Given the description of an element on the screen output the (x, y) to click on. 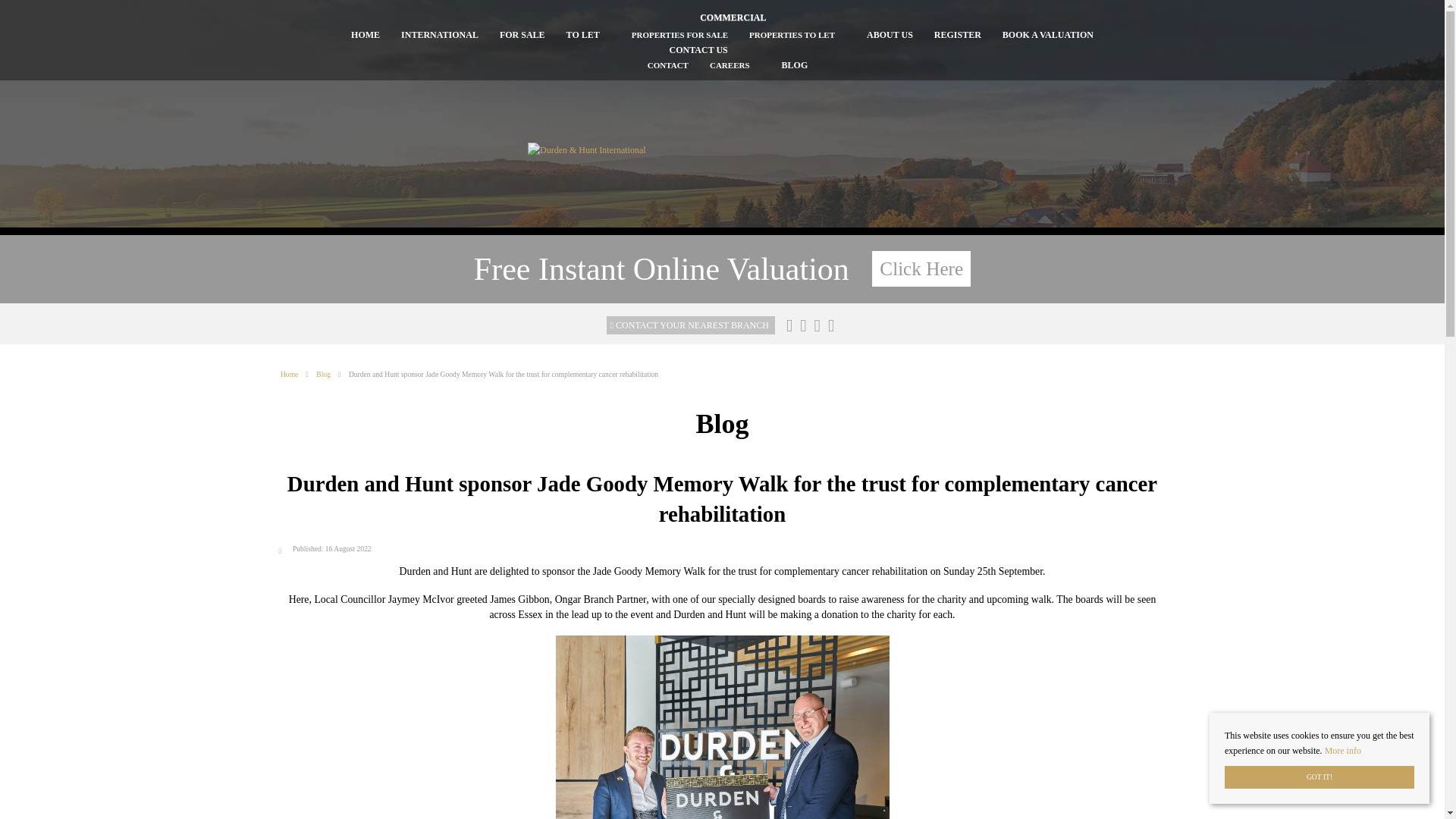
Blog (330, 374)
PROPERTIES TO LET (791, 34)
INTERNATIONAL (440, 34)
CONTACT YOUR NEAREST BRANCH (690, 325)
Home (297, 374)
PROPERTIES FOR SALE (679, 34)
CAREERS (729, 64)
CONTACT US (698, 49)
ABOUT US (889, 34)
BLOG (794, 64)
